Given the description of an element on the screen output the (x, y) to click on. 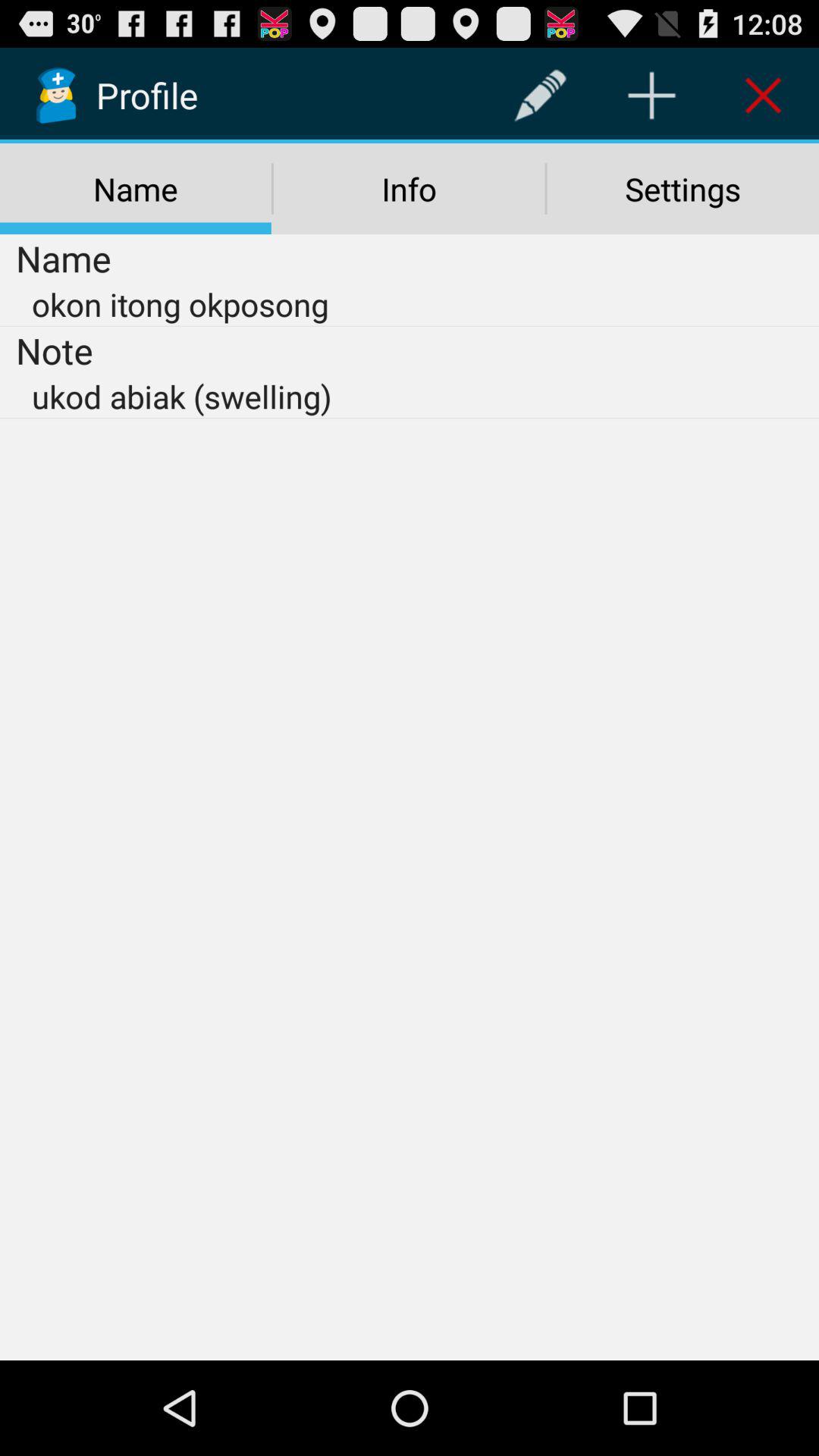
select item to the right of name (540, 95)
